Given the description of an element on the screen output the (x, y) to click on. 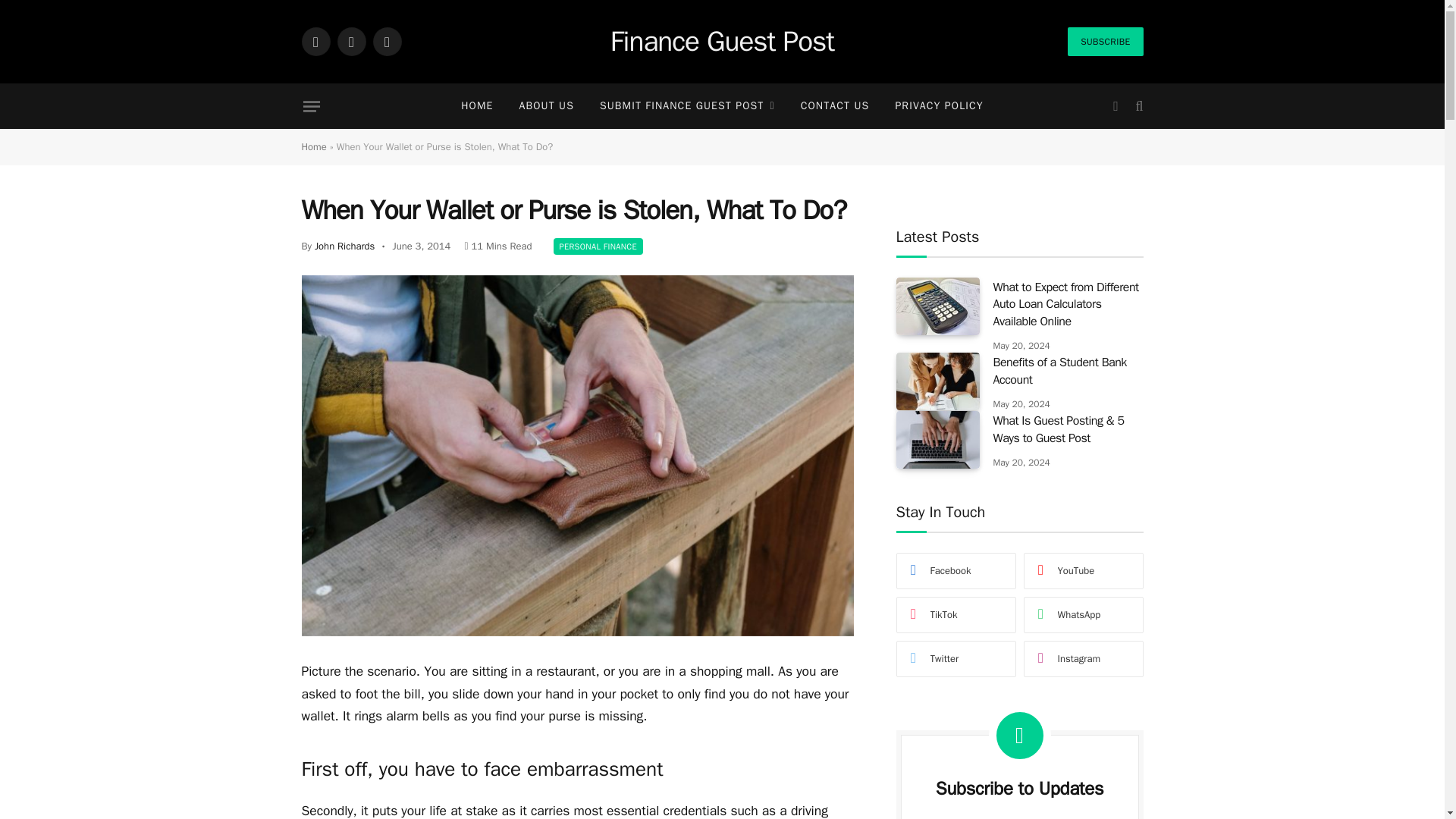
Instagram (386, 41)
Finance Guest Post (722, 41)
Home (313, 146)
CONTACT US (834, 105)
SUBSCRIBE (1104, 41)
PRIVACY POLICY (938, 105)
John Richards (344, 245)
Finance Guest Post (722, 41)
Facebook (315, 41)
ABOUT US (545, 105)
SUBMIT FINANCE GUEST POST (686, 105)
Posts by John Richards (344, 245)
Switch to Dark Design - easier on eyes. (1115, 106)
PERSONAL FINANCE (598, 246)
